Given the description of an element on the screen output the (x, y) to click on. 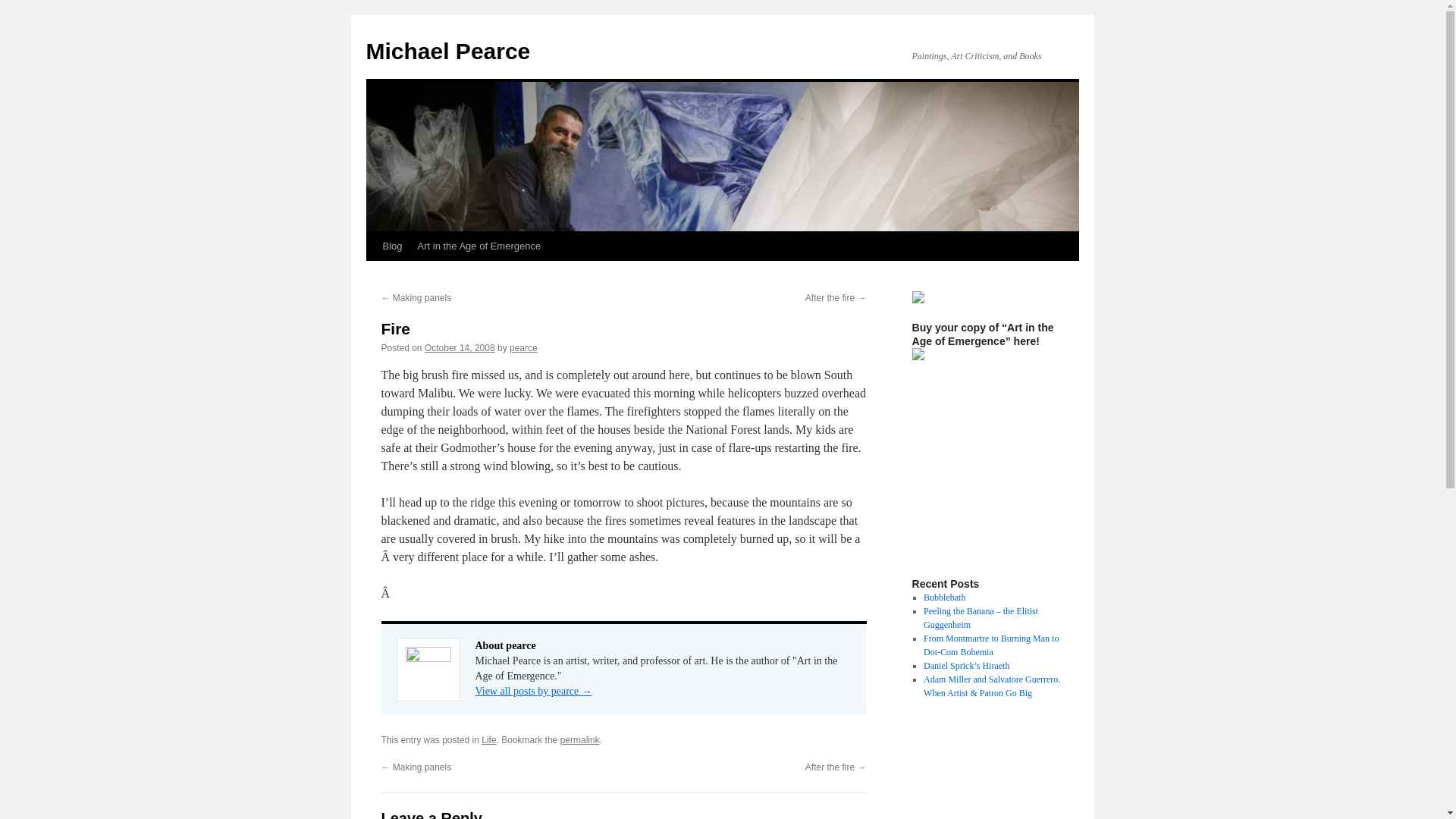
Blog (391, 246)
View all posts by pearce (523, 347)
Art in the Age of Emergence (479, 246)
Michael Pearce (447, 50)
From Montmartre to Burning Man to Dot-Com Bohemia (990, 645)
Permalink to Fire (579, 739)
3:43 pm (460, 347)
October 14, 2008 (460, 347)
Michael Pearce (447, 50)
pearce (523, 347)
